Given the description of an element on the screen output the (x, y) to click on. 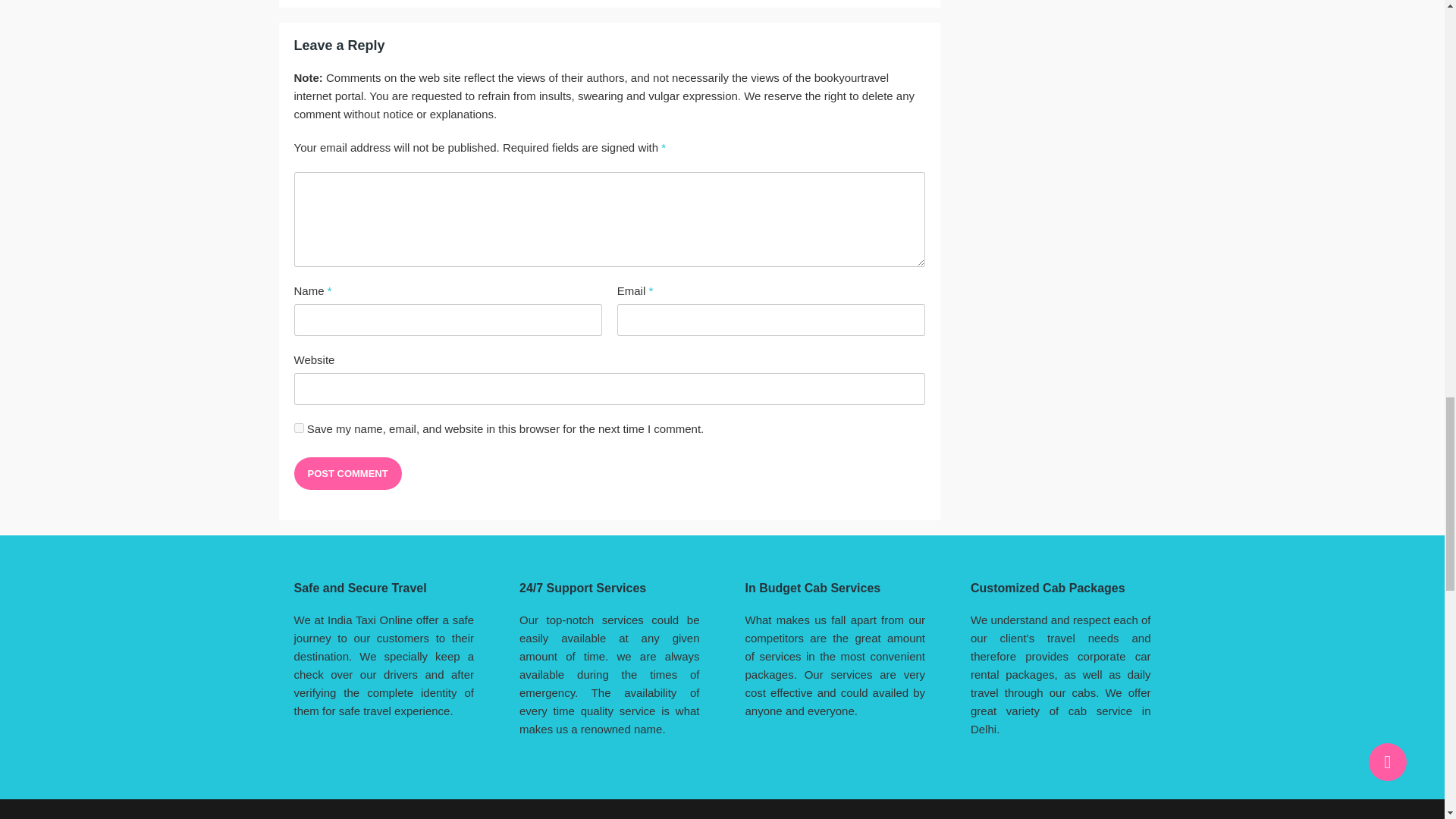
yes (299, 428)
Post Comment (347, 473)
